Given the description of an element on the screen output the (x, y) to click on. 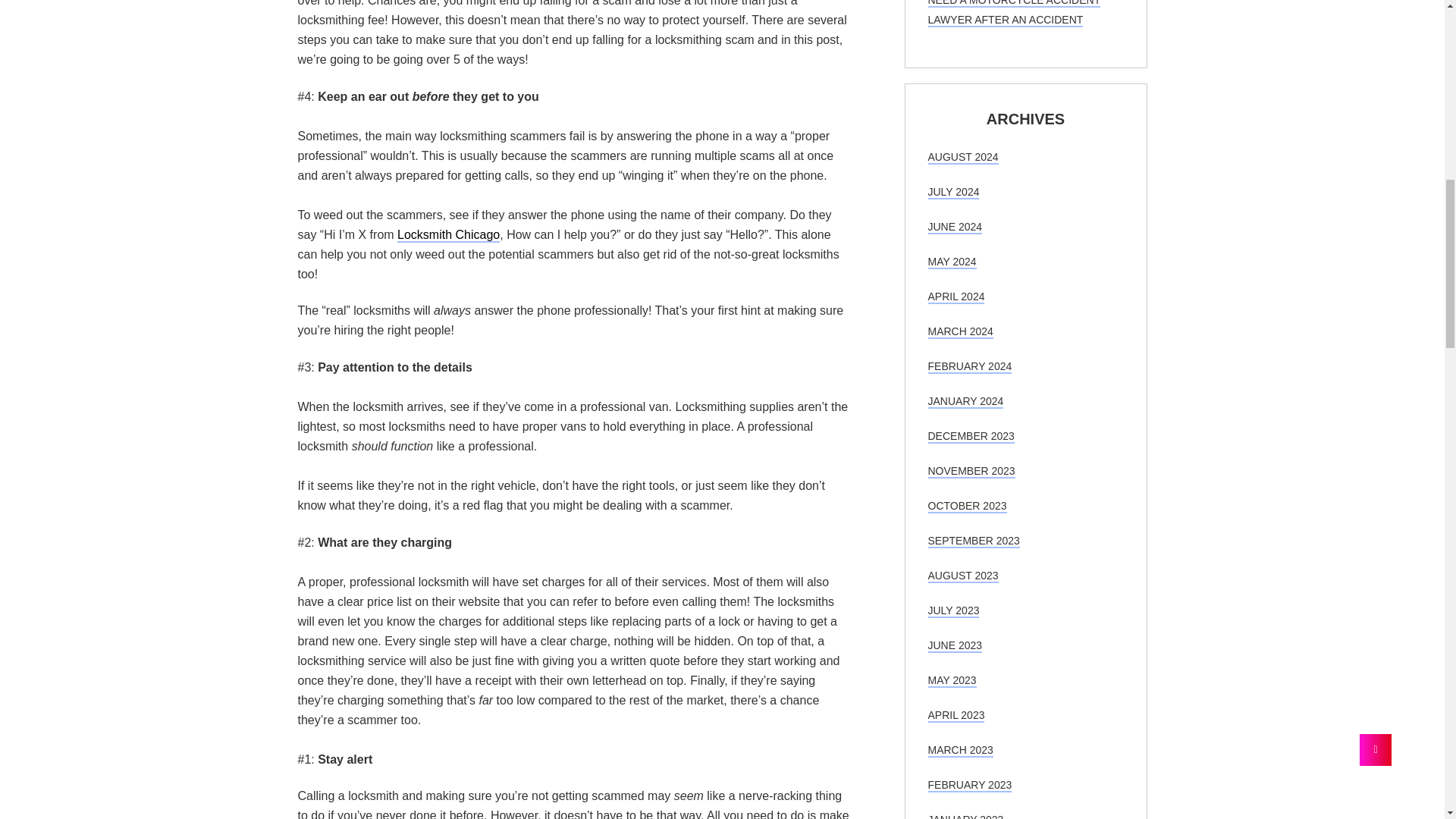
FEBRUARY 2024 (969, 366)
OCTOBER 2023 (967, 506)
JULY 2024 (953, 192)
AUGUST 2024 (963, 157)
JUNE 2024 (955, 227)
MAY 2024 (952, 262)
NOVEMBER 2023 (971, 471)
DECEMBER 2023 (971, 436)
JANUARY 2024 (966, 401)
